Given the description of an element on the screen output the (x, y) to click on. 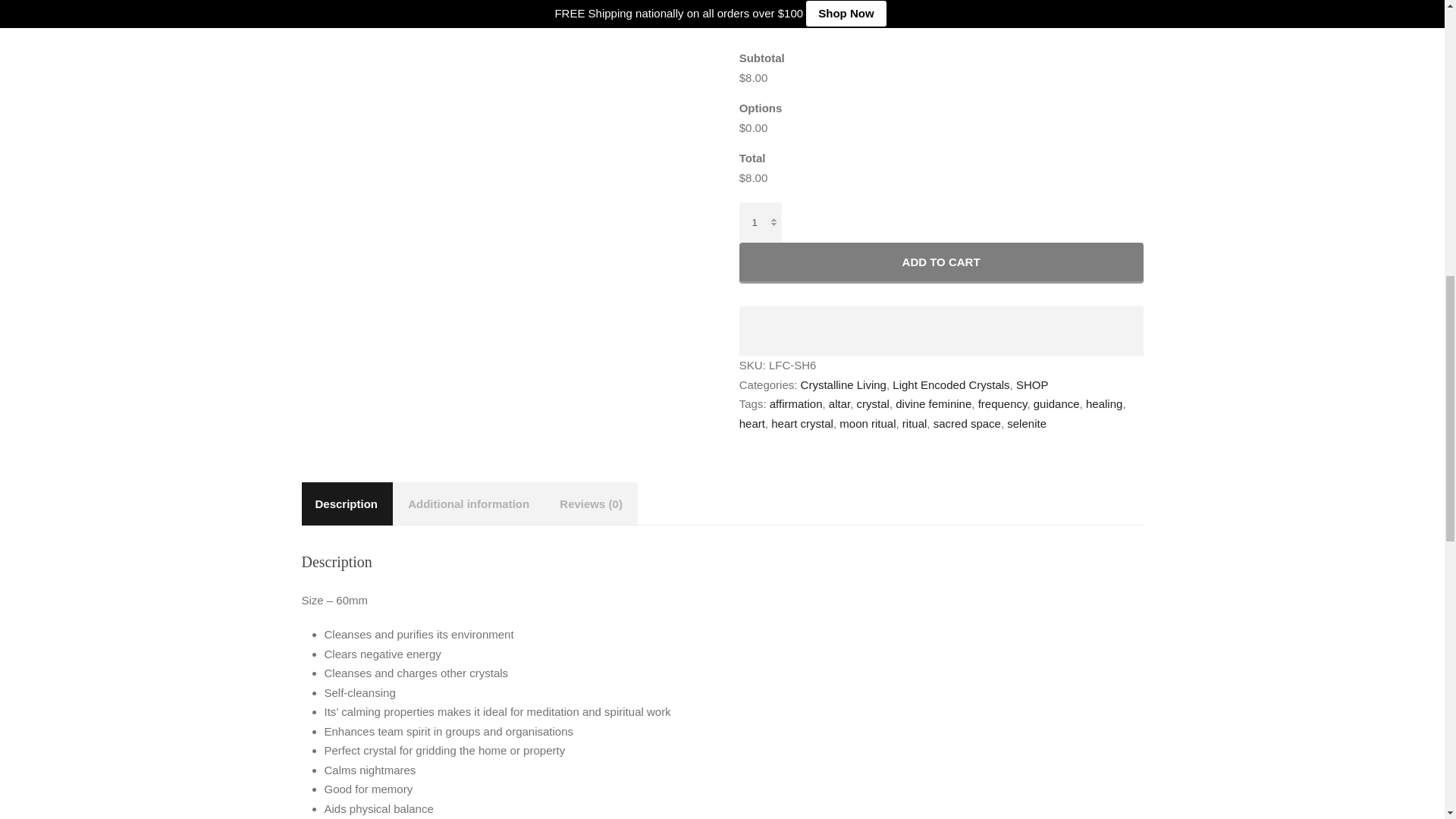
1 (760, 222)
PayPal (941, 319)
